Given the description of an element on the screen output the (x, y) to click on. 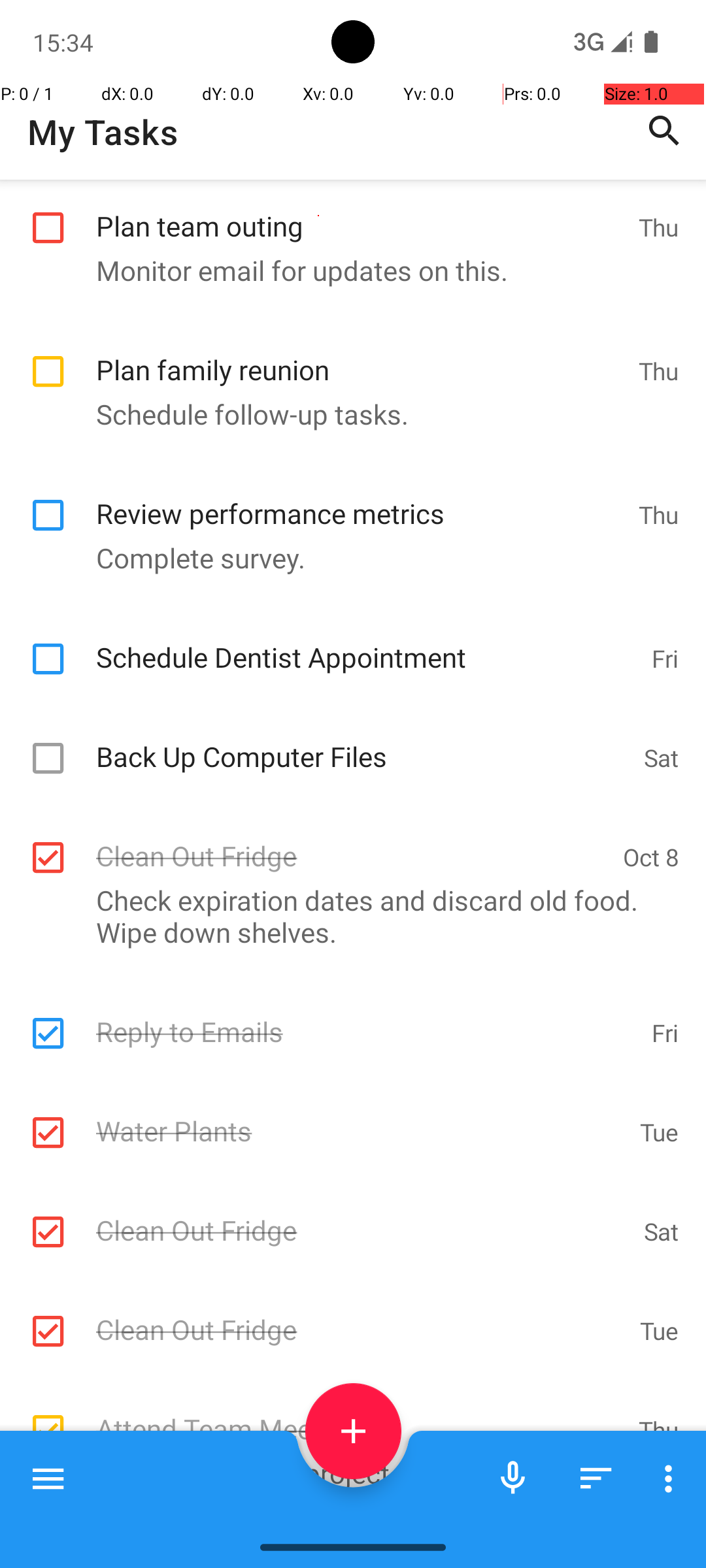
Plan team outing Element type: android.widget.TextView (360, 211)
Monitor email for updates on this. Element type: android.widget.TextView (346, 269)
Plan family reunion Element type: android.widget.TextView (360, 355)
Schedule follow-up tasks. Element type: android.widget.TextView (346, 413)
Review performance metrics Element type: android.widget.TextView (360, 499)
Complete survey. Element type: android.widget.TextView (346, 557)
Sat Element type: android.widget.TextView (661, 757)
Check expiration dates and discard old food. Wipe down shelves. Element type: android.widget.TextView (346, 915)
Oct 8 Element type: android.widget.TextView (650, 856)
Agenda includes project updates and brainstorming new initiatives. Element type: android.widget.TextView (346, 1488)
